Given the description of an element on the screen output the (x, y) to click on. 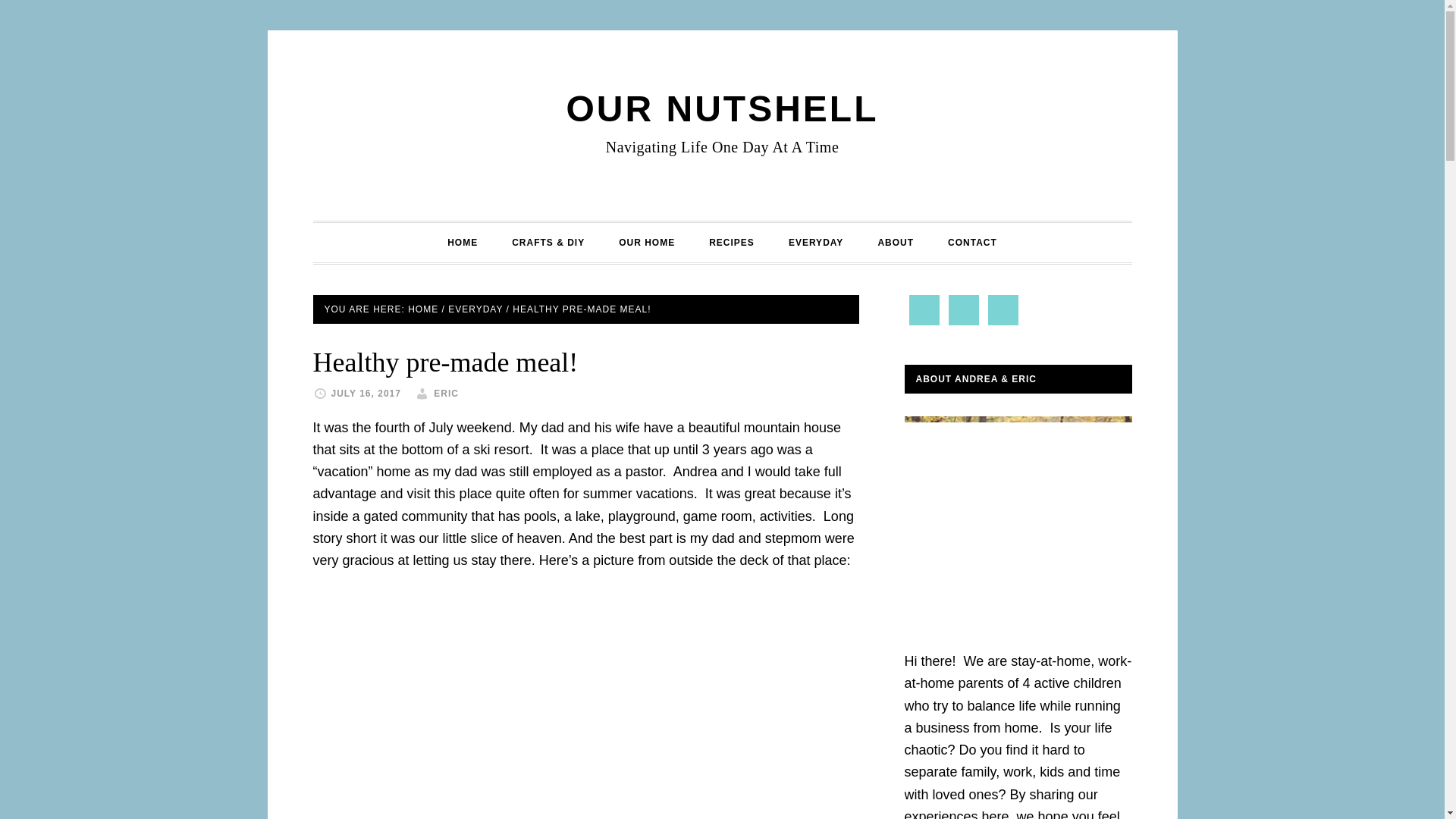
ABOUT (894, 242)
CONTACT (972, 242)
ERIC (445, 393)
OUR HOME (647, 242)
HOME (422, 308)
OUR NUTSHELL (721, 108)
RECIPES (732, 242)
HOME (462, 242)
EVERYDAY (475, 308)
EVERYDAY (816, 242)
